Given the description of an element on the screen output the (x, y) to click on. 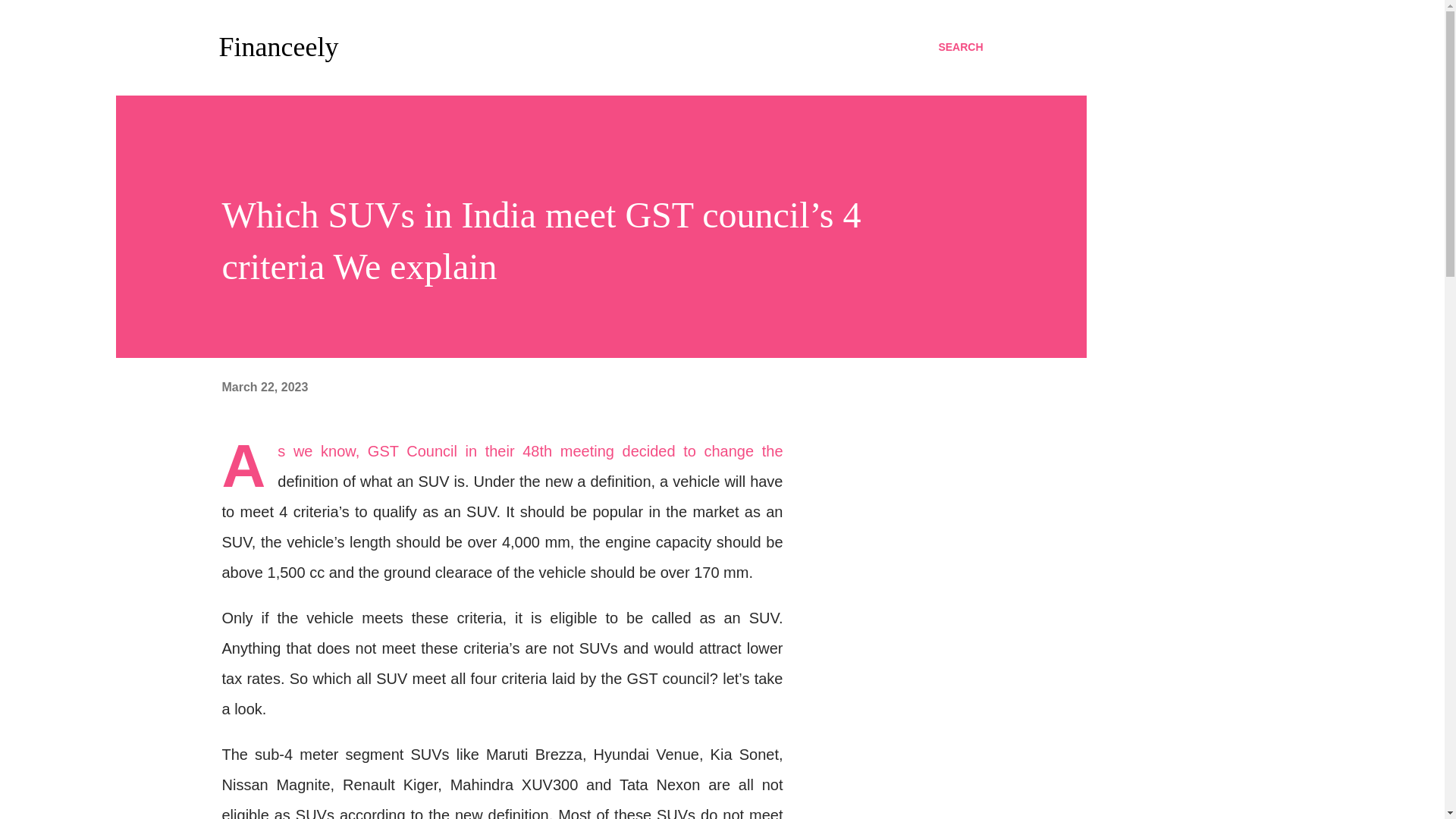
SEARCH (959, 46)
March 22, 2023 (264, 386)
permanent link (264, 386)
Financeely (277, 46)
